Given the description of an element on the screen output the (x, y) to click on. 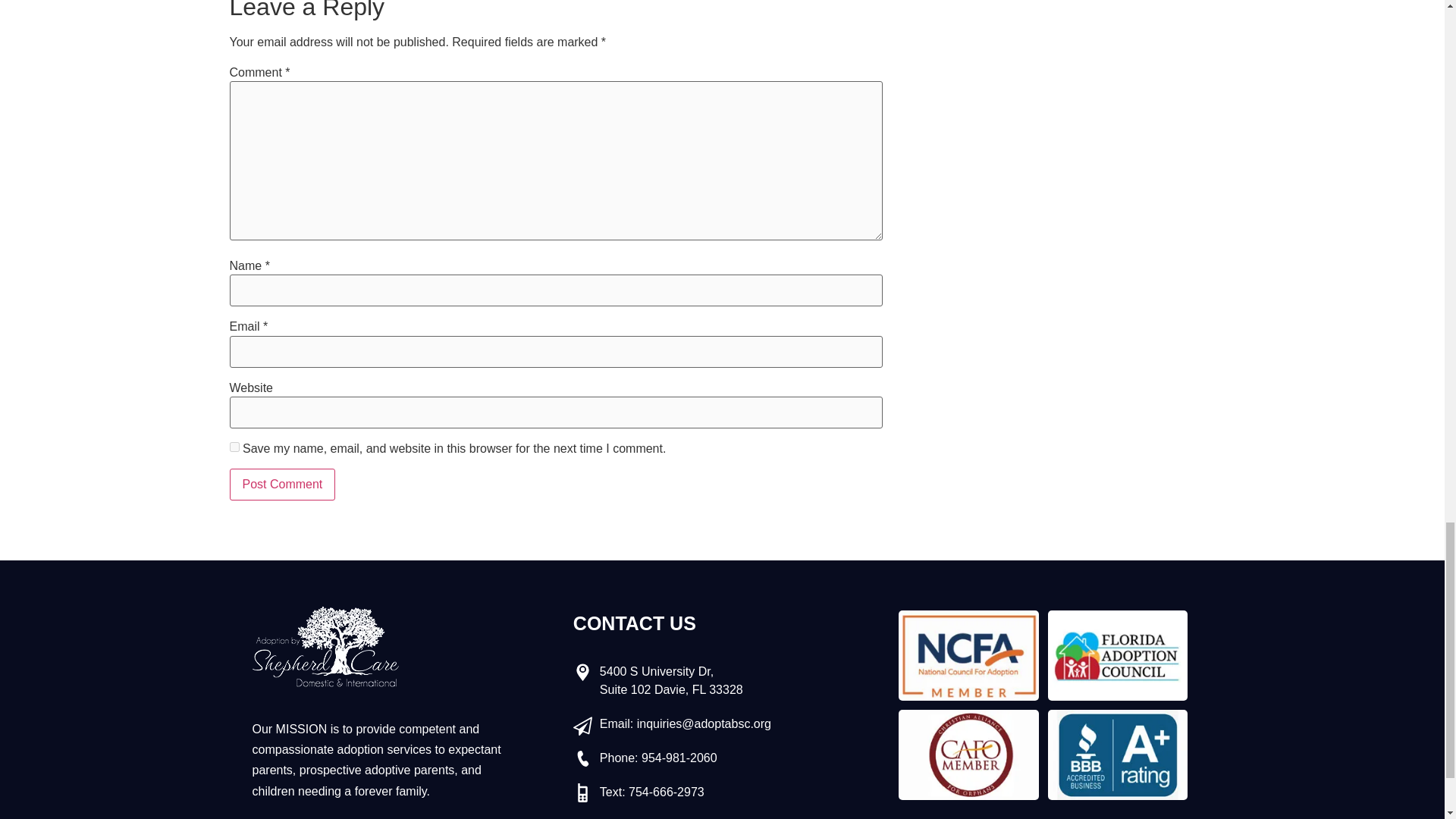
Post Comment (281, 484)
yes (233, 447)
Post Comment (281, 484)
